Given the description of an element on the screen output the (x, y) to click on. 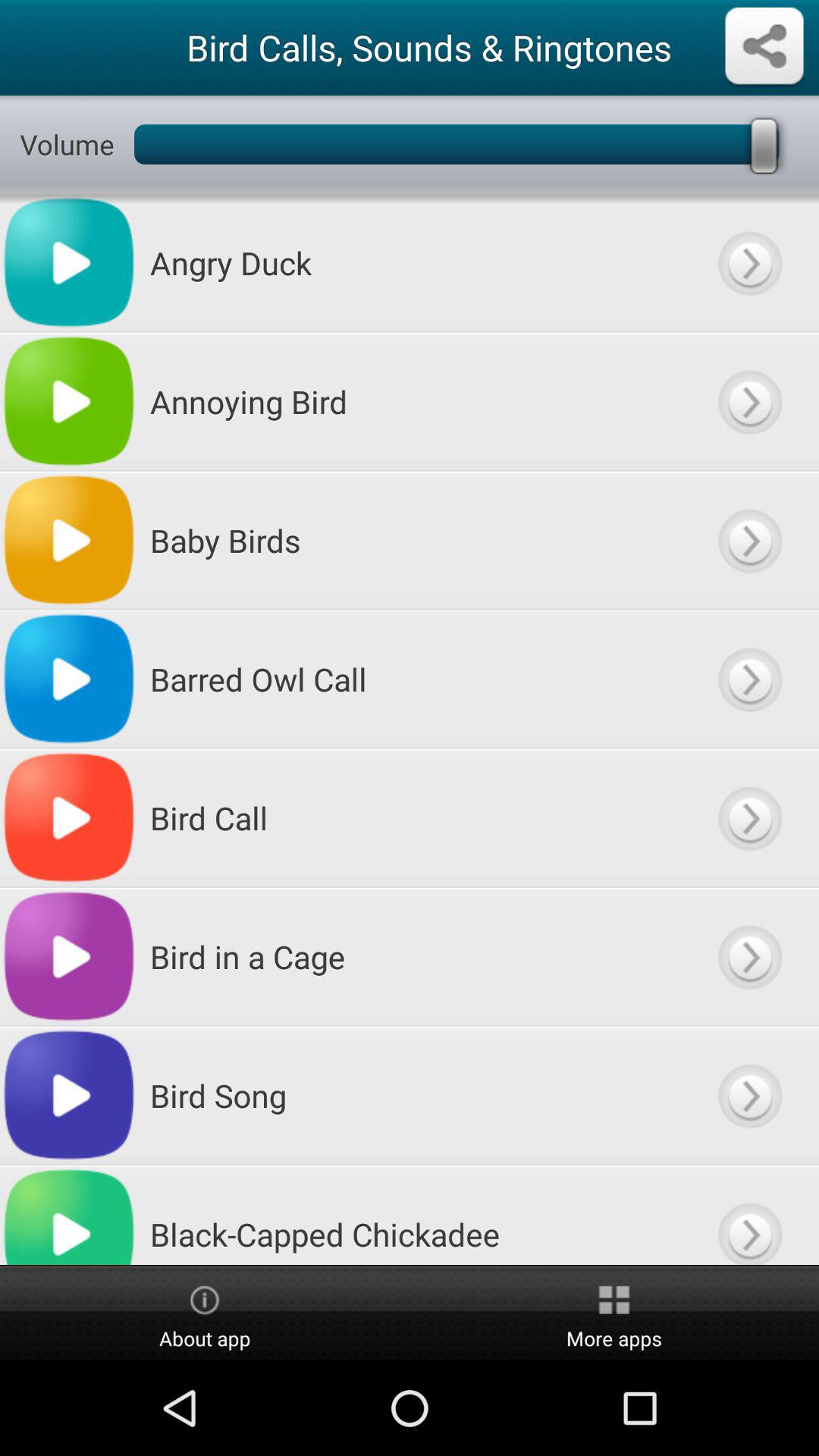
use ringtone (749, 1214)
